Given the description of an element on the screen output the (x, y) to click on. 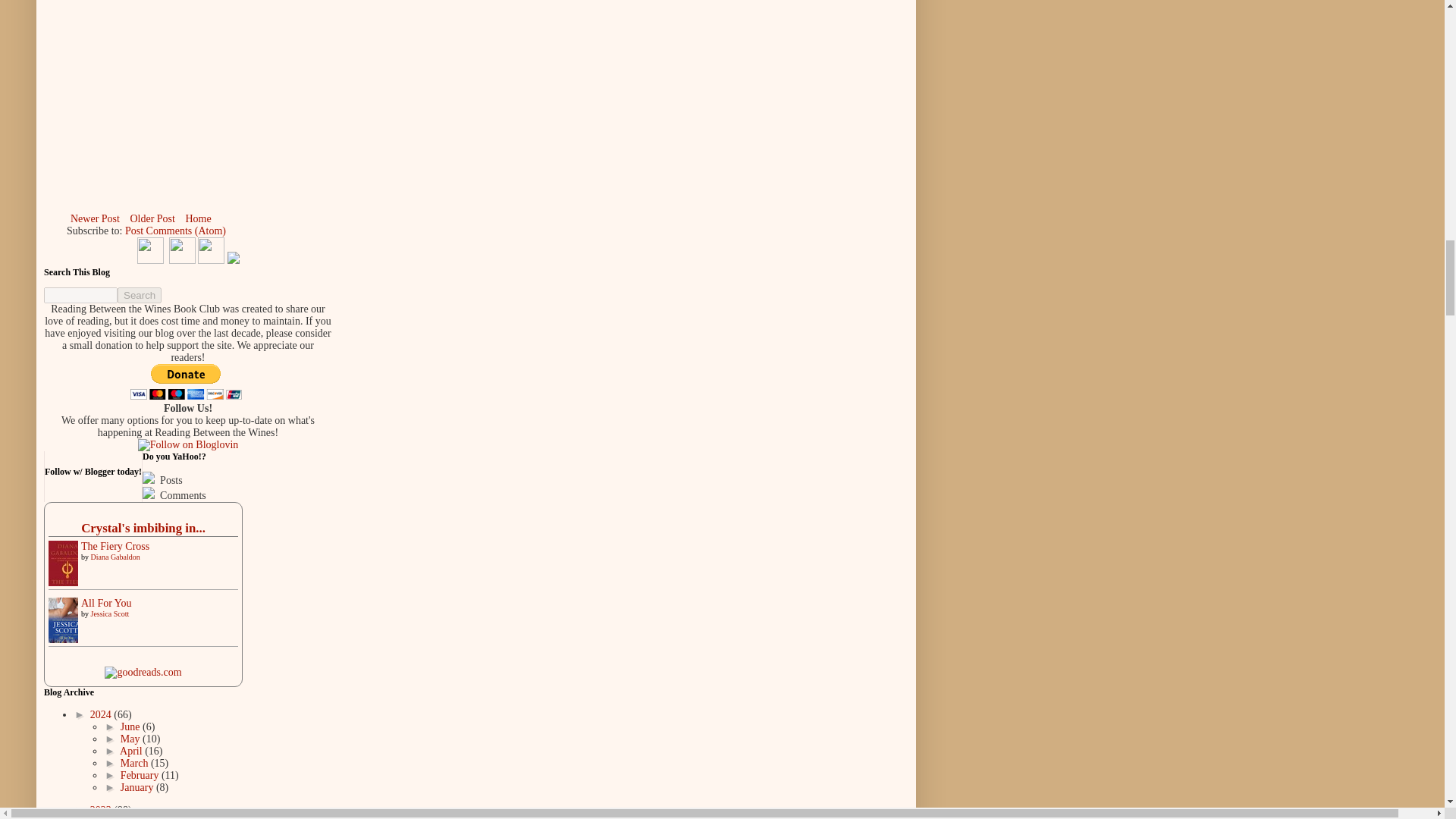
Older Post (152, 218)
Newer Post (94, 218)
Older Post (152, 218)
Search (139, 295)
Home (197, 218)
Newer Post (94, 218)
Search (139, 295)
